Given the description of an element on the screen output the (x, y) to click on. 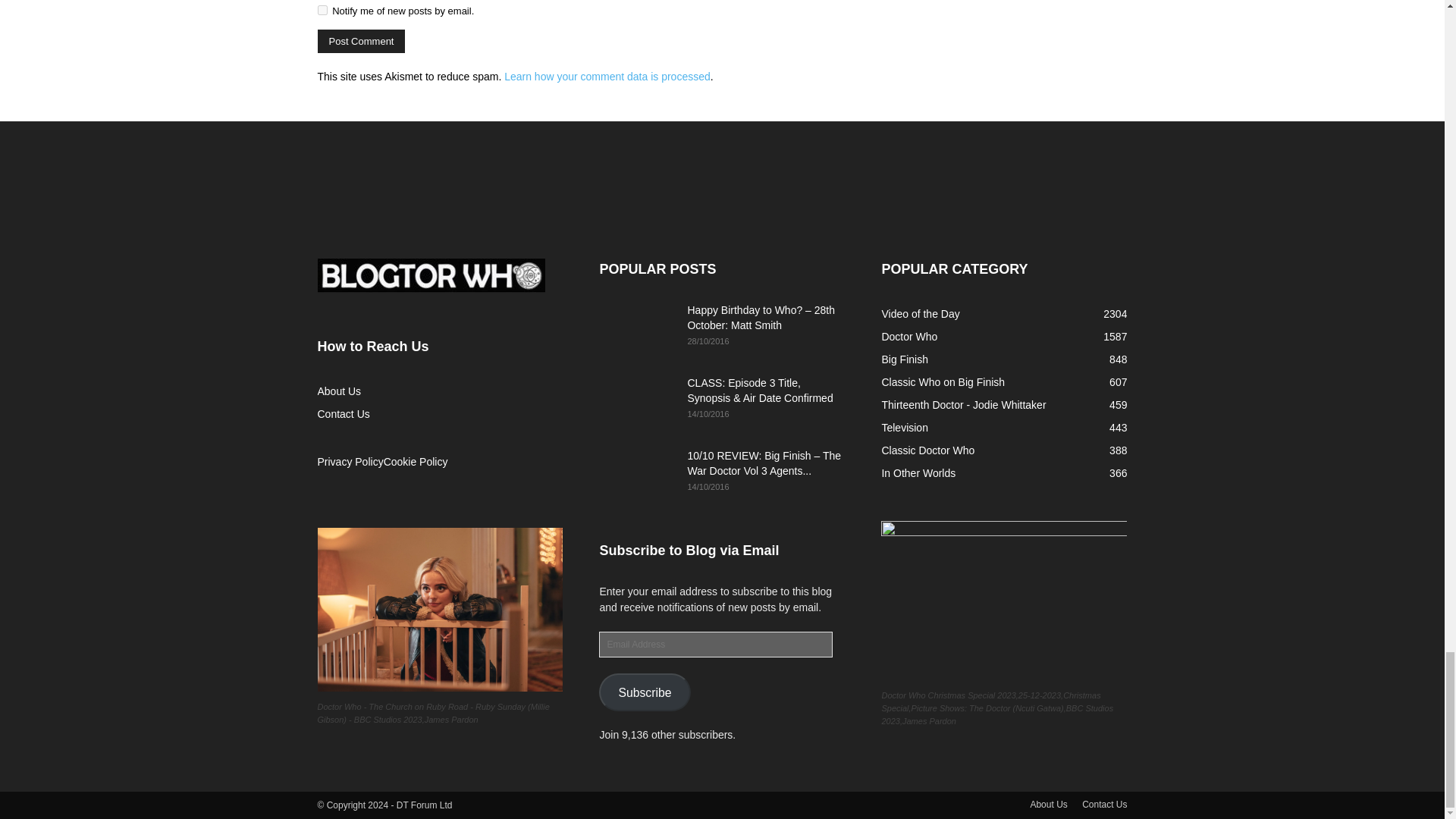
subscribe (321, 9)
Post Comment (360, 41)
